Given the description of an element on the screen output the (x, y) to click on. 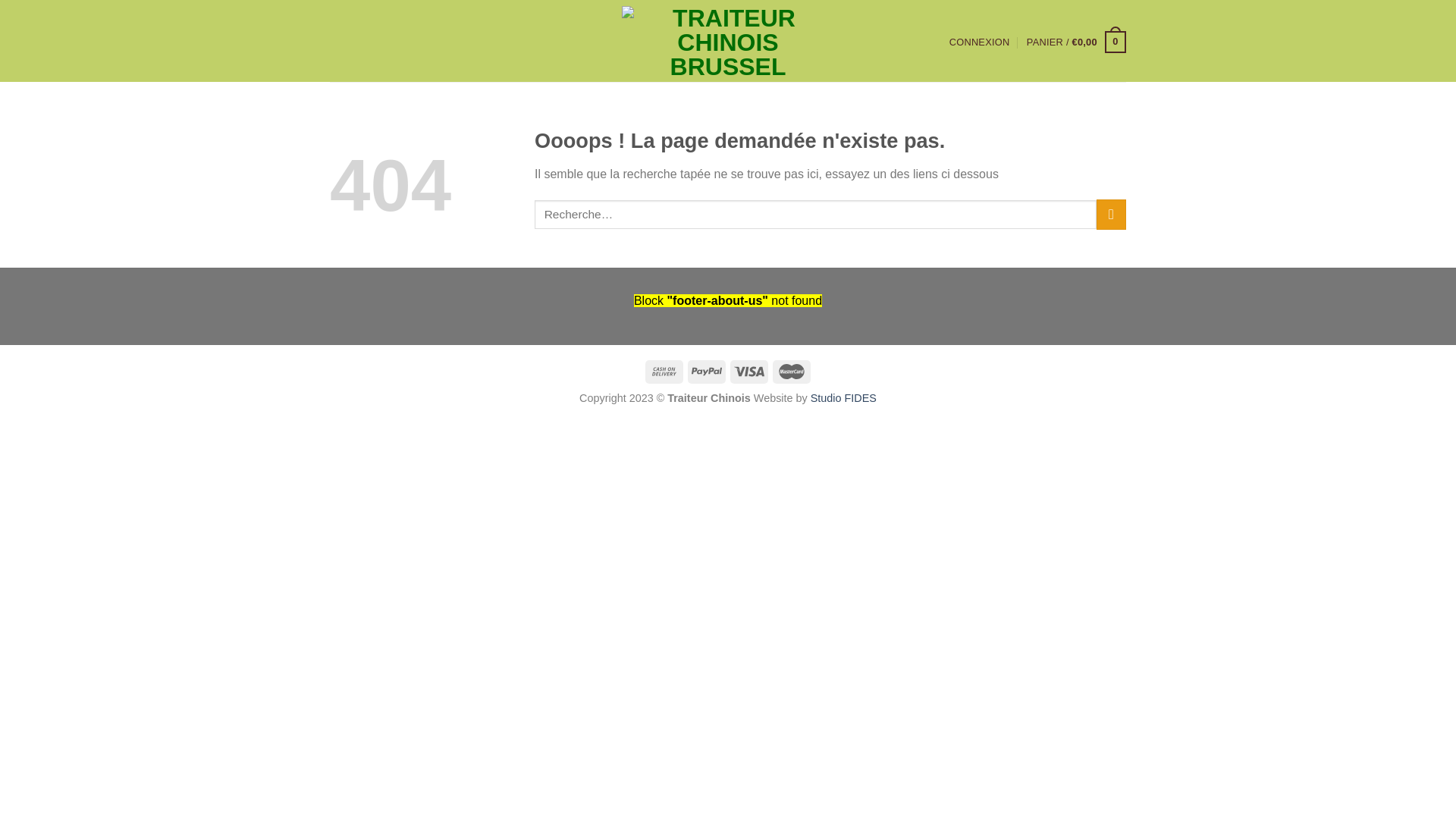
CONNEXION Element type: text (979, 42)
Traiteur Chinois Brussel - Fine Chinese takeaway in Brussels Element type: hover (728, 40)
Studio FIDES Element type: text (843, 398)
